Given the description of an element on the screen output the (x, y) to click on. 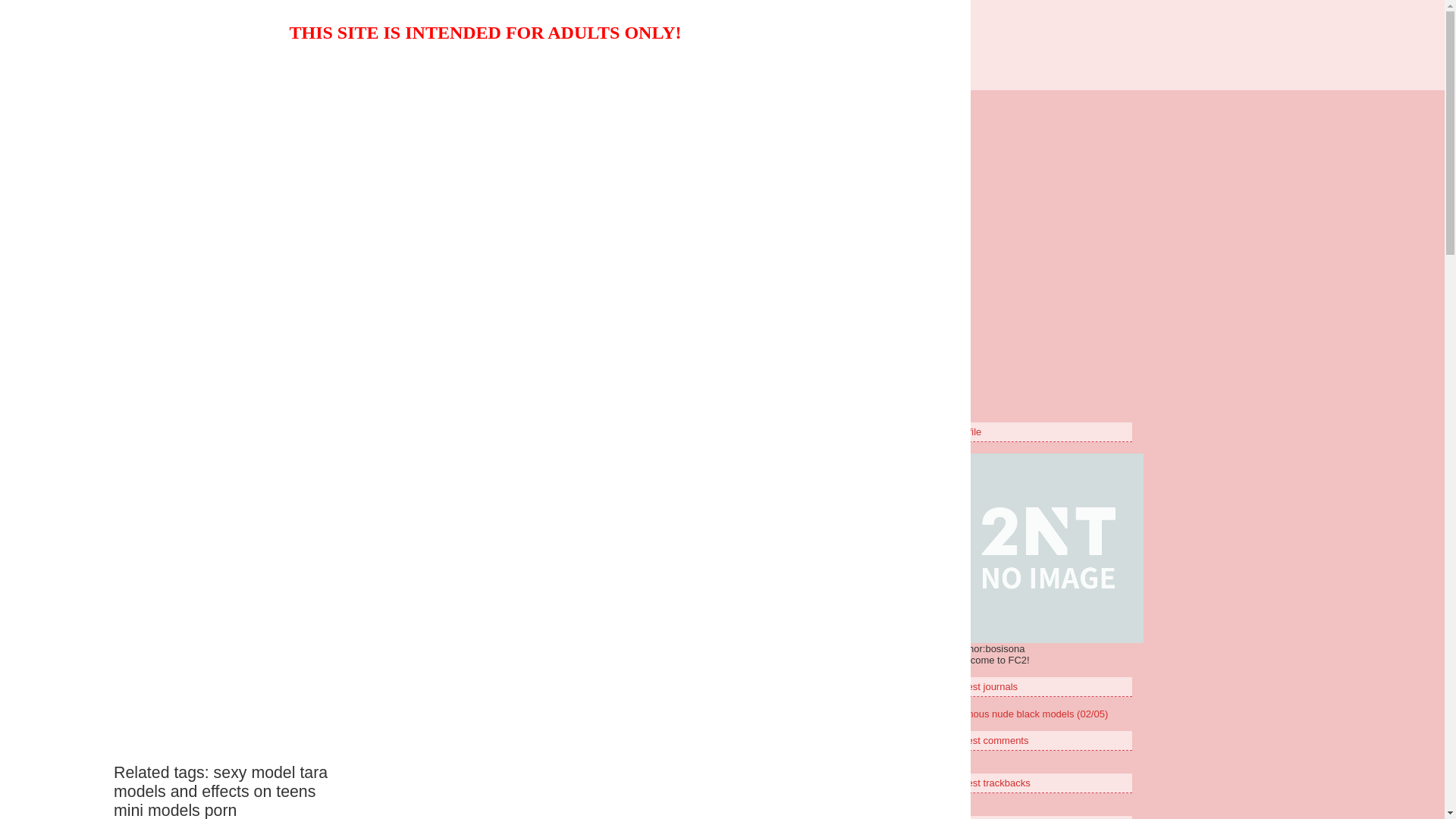
Famous nude black models (02/05) Element type: text (1030, 713)
Pagetop Element type: text (851, 234)
Pagetop Element type: text (874, 329)
Gorgous teen nonnude models Element type: text (721, 38)
Category: None Element type: text (671, 194)
Comments : 7 Element type: text (756, 194)
Famous nude black models Element type: text (423, 146)
HOME Element type: text (613, 268)
Trackbacks : 0 Element type: text (837, 194)
